Given the description of an element on the screen output the (x, y) to click on. 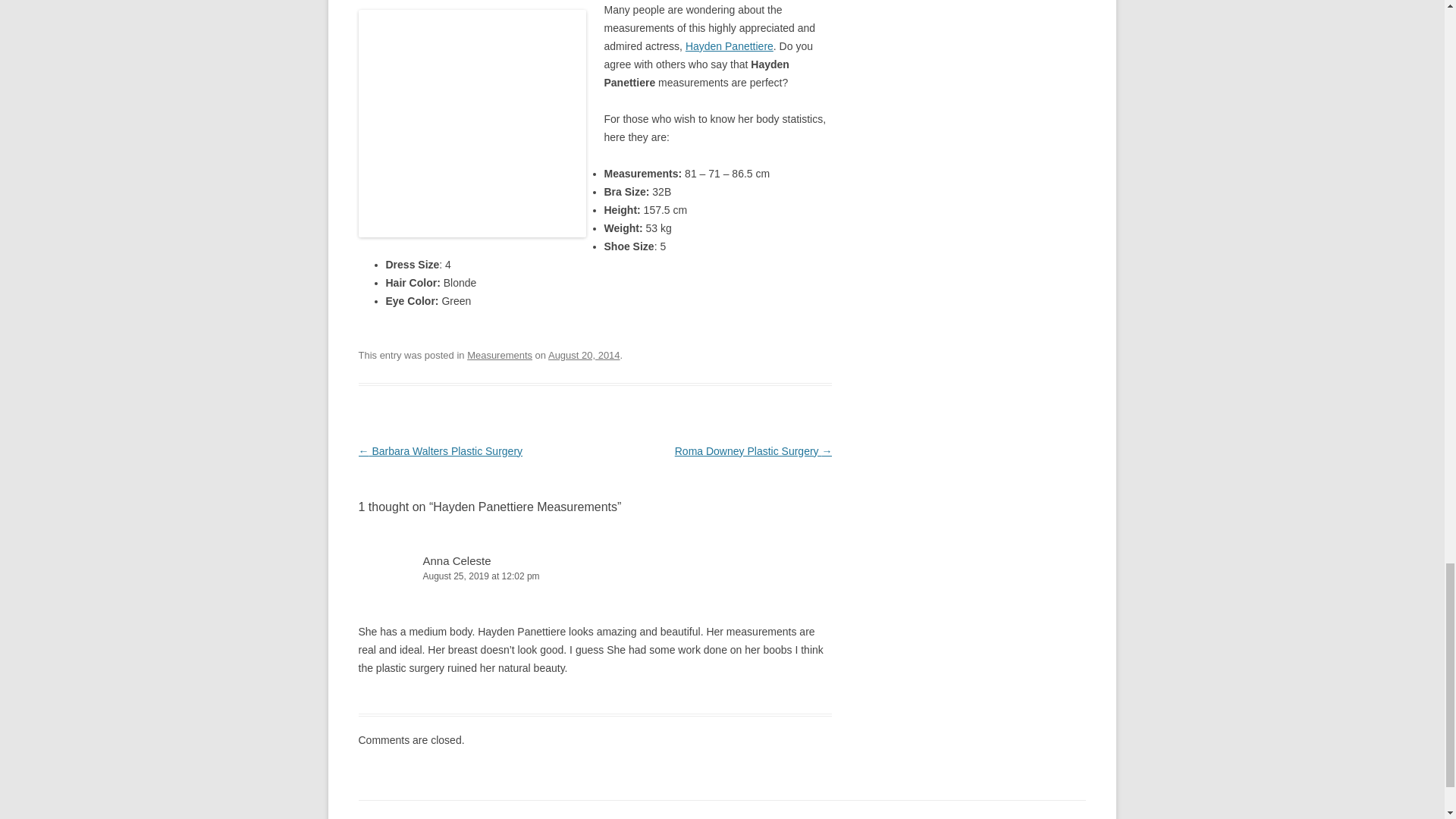
Measurements (499, 355)
Hayden Panettiere (729, 46)
Hayden Panettiere Measurements  (471, 123)
August 20, 2014 (584, 355)
August 25, 2019 at 12:02 pm (594, 576)
hayden panettiere twitter (729, 46)
8:31 pm (584, 355)
